Given the description of an element on the screen output the (x, y) to click on. 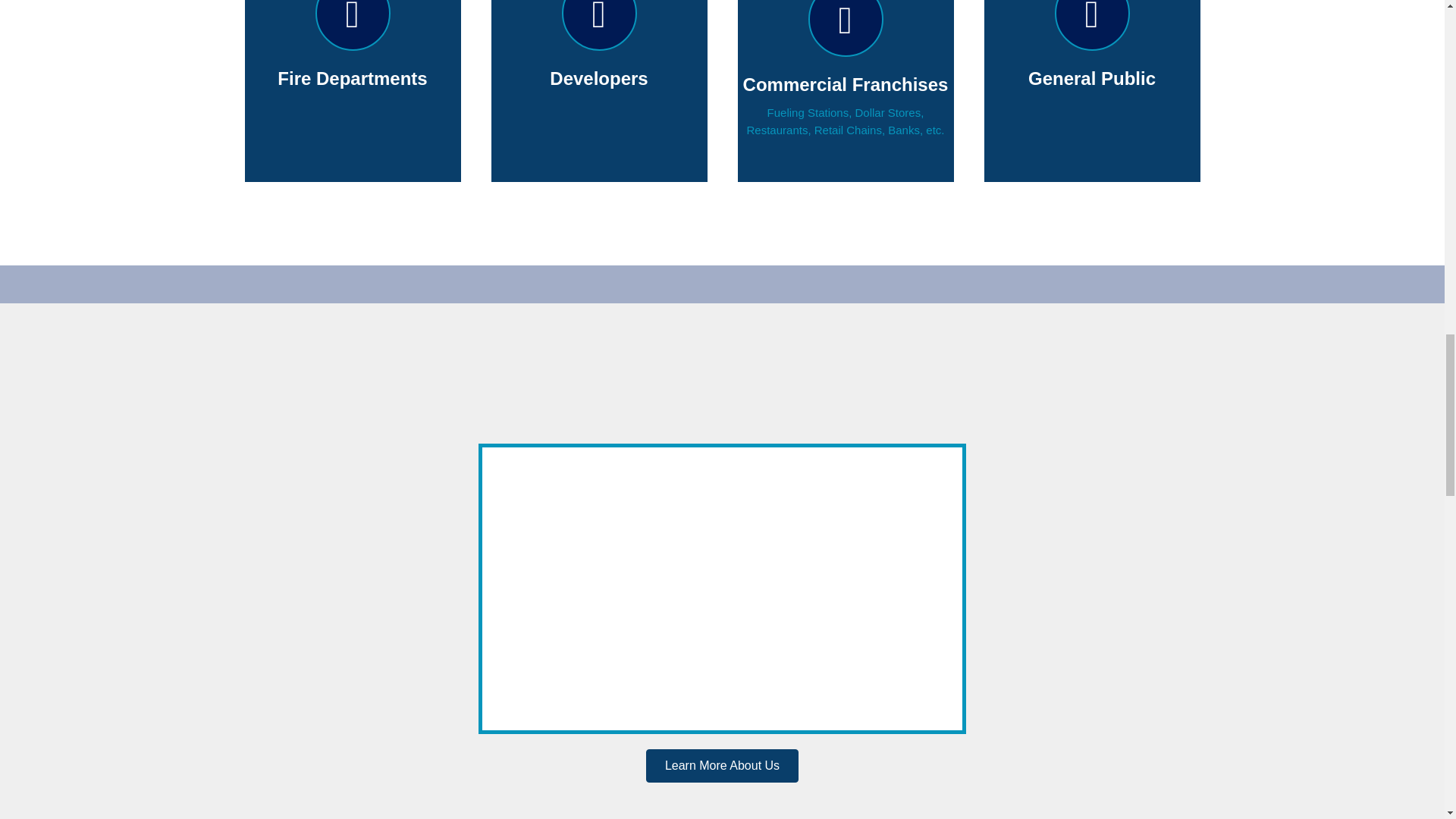
Learn More About Us (721, 765)
